Given the description of an element on the screen output the (x, y) to click on. 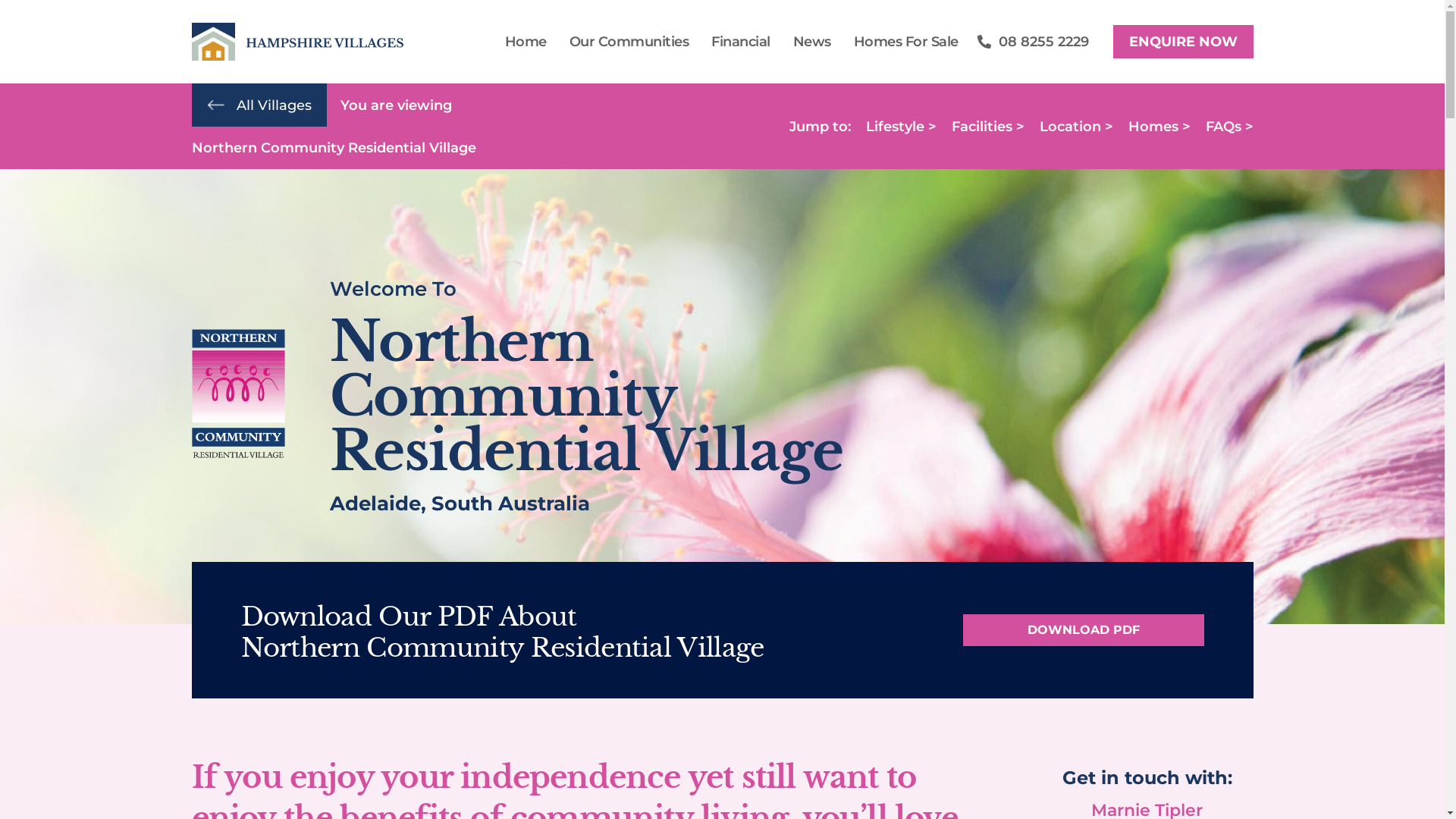
Home Element type: text (524, 41)
Our Communities Element type: text (629, 41)
Lifestyle > Element type: text (901, 125)
ENQUIRE NOW Element type: text (1183, 41)
Homes For Sale Element type: text (905, 41)
Homes > Element type: text (1159, 125)
Financial Element type: text (740, 41)
08 8255 2229 Element type: text (1032, 41)
All Villages Element type: text (273, 105)
Skip to content Element type: text (11, 31)
DOWNLOAD PDF Element type: text (1083, 630)
Location > Element type: text (1075, 125)
FAQs > Element type: text (1229, 125)
Facilities > Element type: text (986, 125)
News Element type: text (811, 41)
